Given the description of an element on the screen output the (x, y) to click on. 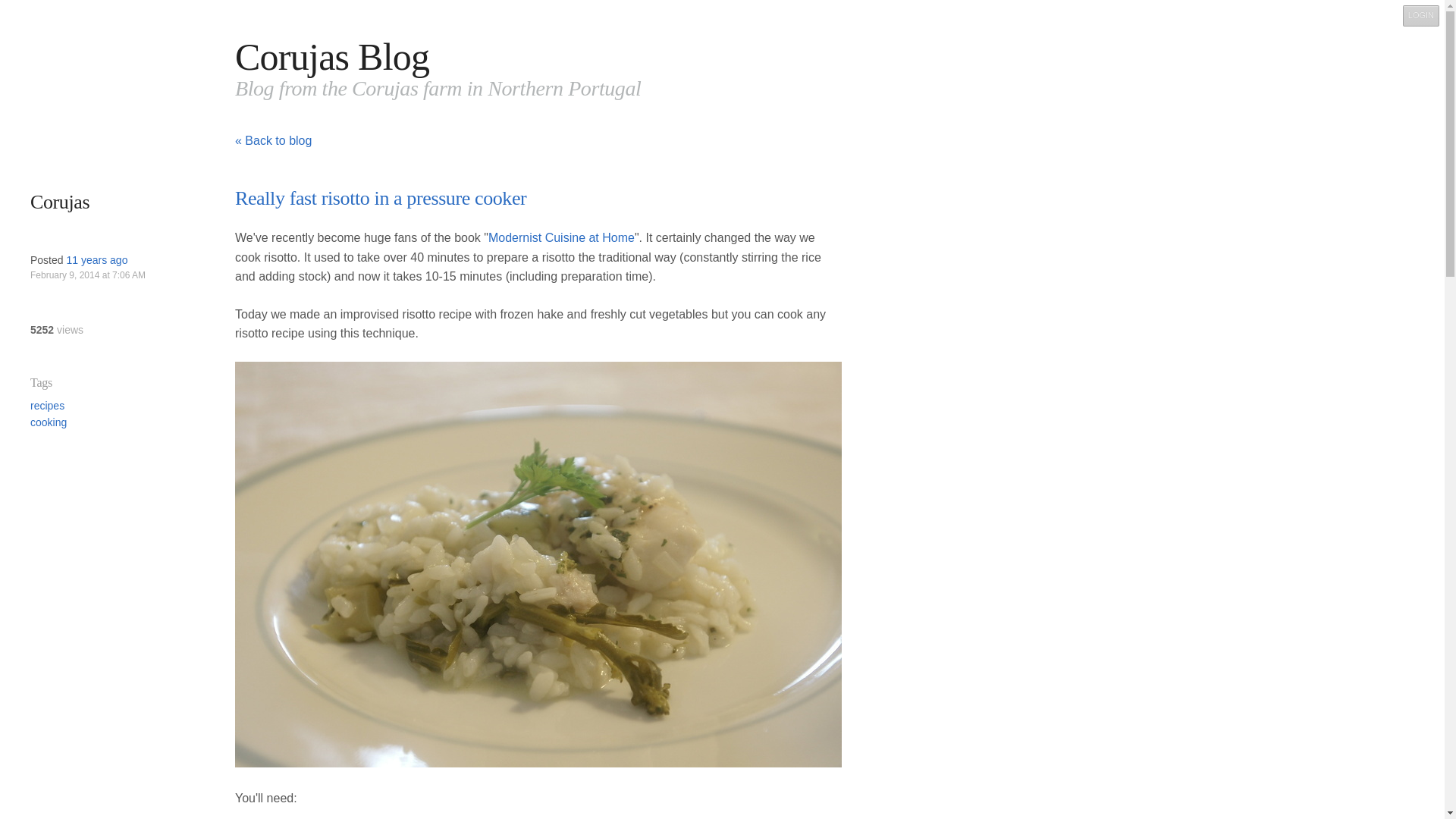
Corujas Blog (331, 56)
11 years ago (96, 259)
cooking (48, 422)
Really fast risotto in a pressure cooker (379, 198)
recipes (47, 405)
Modernist Cuisine at Home (560, 237)
LOGIN (1421, 15)
